Given the description of an element on the screen output the (x, y) to click on. 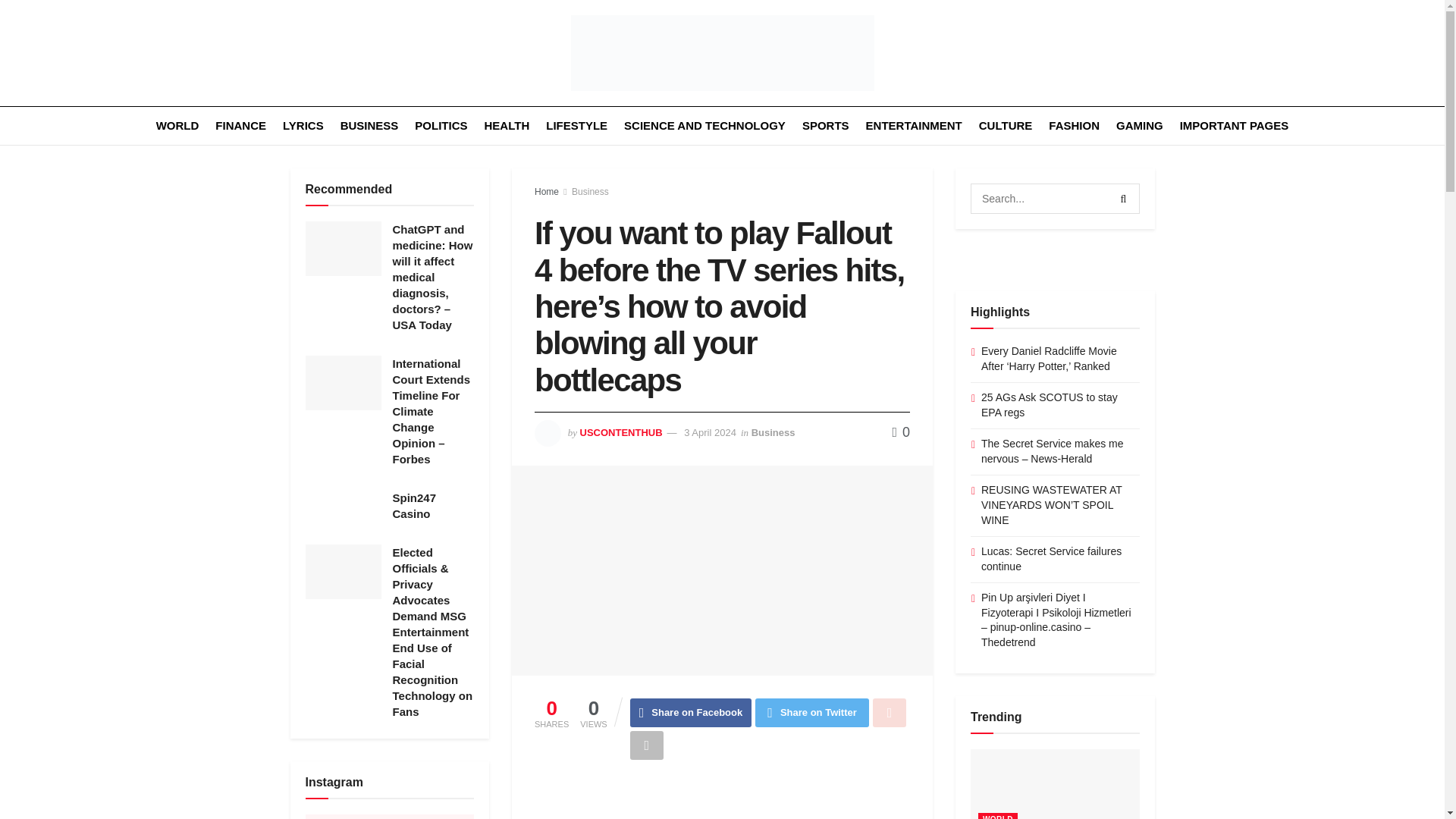
HEALTH (506, 125)
CULTURE (1005, 125)
Home (546, 191)
BUSINESS (369, 125)
0 (900, 432)
Business (772, 432)
GAMING (1139, 125)
LIFESTYLE (576, 125)
SCIENCE AND TECHNOLOGY (705, 125)
Share on Facebook (691, 712)
POLITICS (440, 125)
Share on Twitter (812, 712)
WORLD (177, 125)
ENTERTAINMENT (914, 125)
USCONTENTHUB (620, 432)
